Given the description of an element on the screen output the (x, y) to click on. 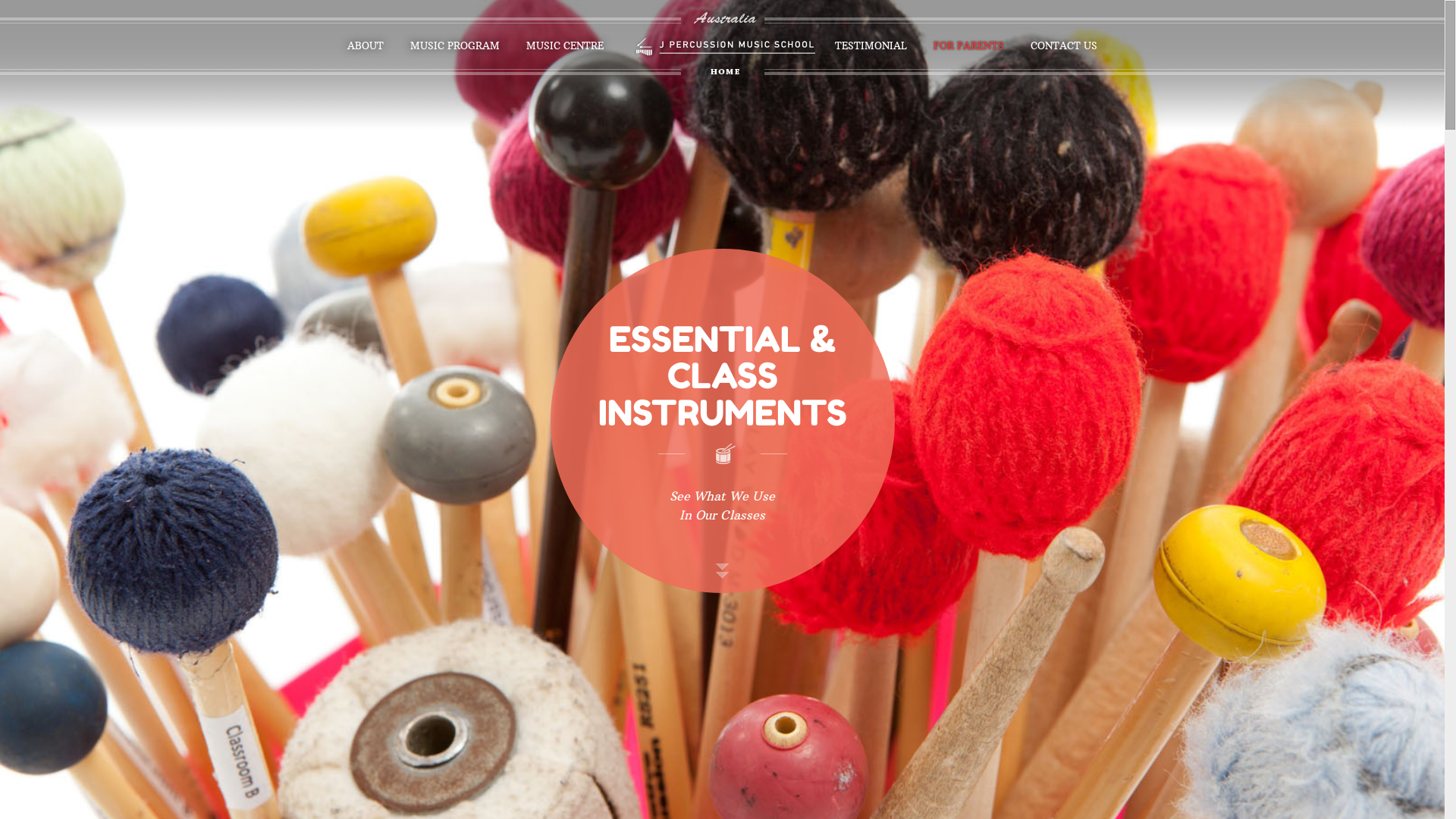
CONTACT US Element type: text (1063, 45)
ABOUT Element type: text (365, 45)
FOR PARENTS Element type: text (968, 45)
Start reading Element type: text (722, 558)
TESTIMONIAL Element type: text (870, 45)
MUSIC PROGRAM Element type: text (454, 45)
MUSIC CENTRE Element type: text (564, 45)
